Given the description of an element on the screen output the (x, y) to click on. 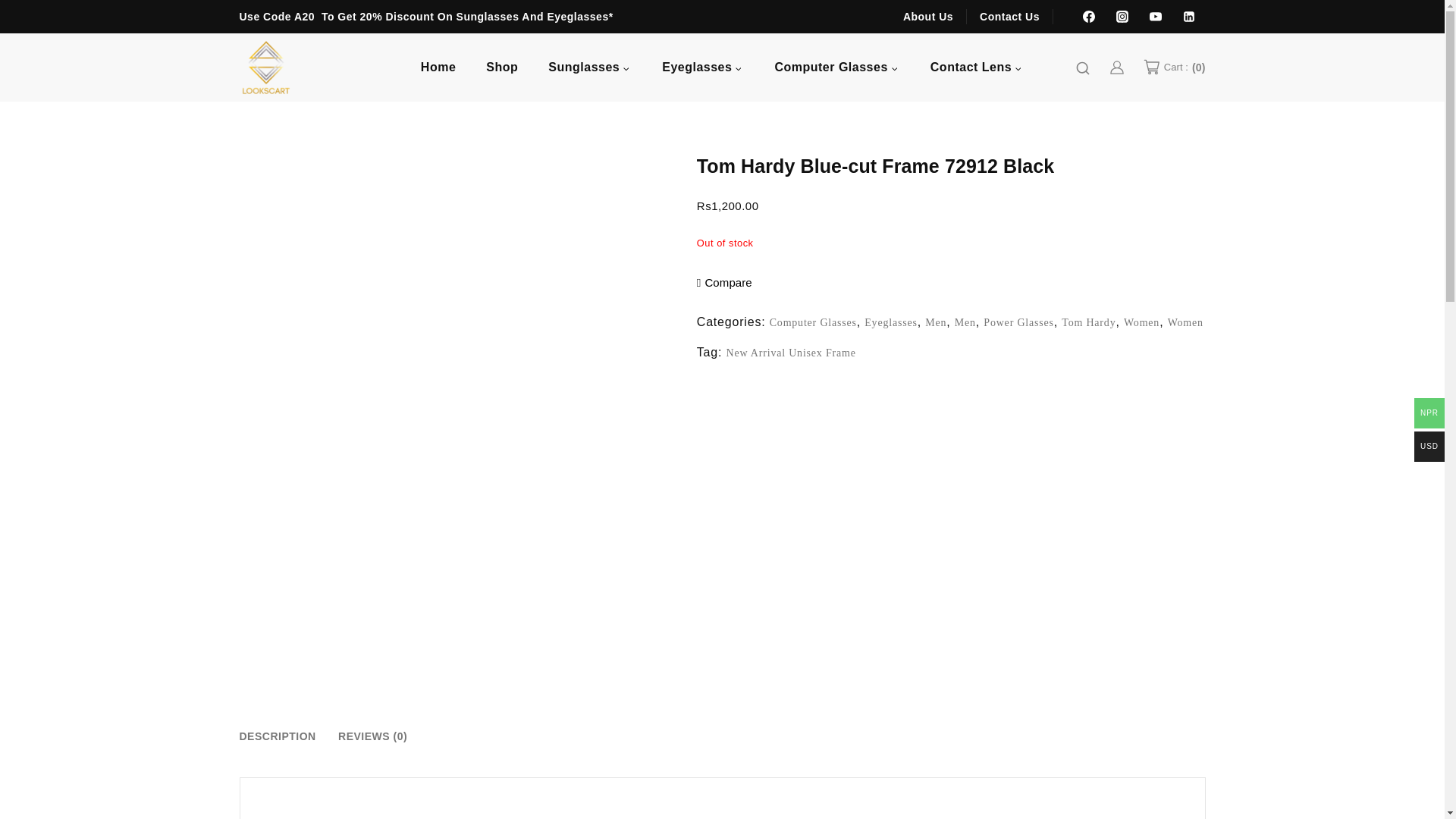
Shop (501, 67)
Eyeglasses (702, 67)
Sunglasses (589, 67)
Home (438, 67)
Contact Us (1009, 16)
Computer Glasses (836, 67)
Contact Lens (977, 67)
About Us (934, 16)
